Given the description of an element on the screen output the (x, y) to click on. 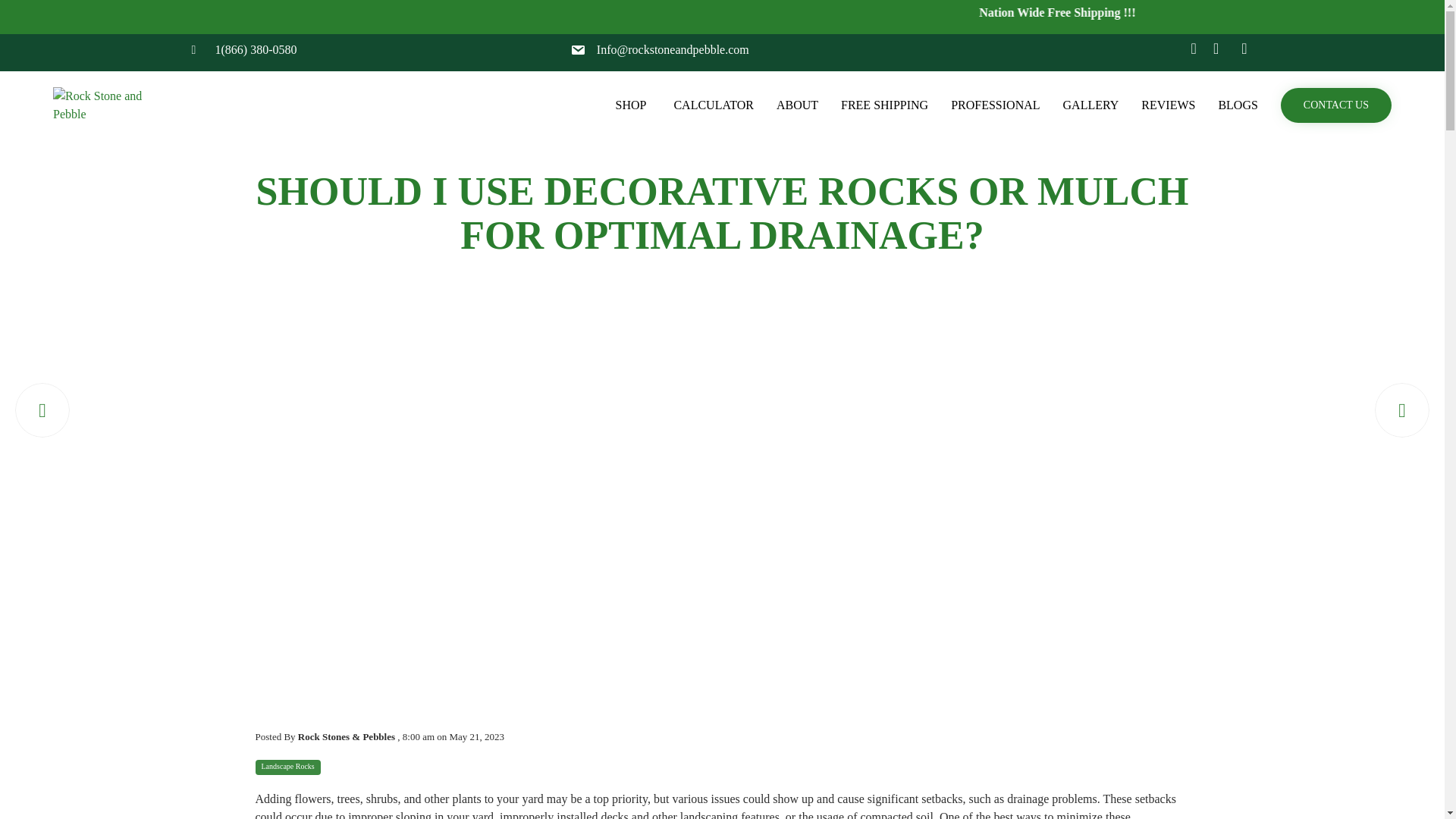
FREE SHIPPING (884, 105)
SHOP (633, 105)
CALCULATOR (713, 105)
GALLERY (1091, 105)
PROFESSIONAL (995, 105)
ABOUT (797, 105)
BLOGS (1237, 105)
Landscape Rocks (287, 767)
REVIEWS (1168, 105)
CONTACT US (1336, 104)
